Given the description of an element on the screen output the (x, y) to click on. 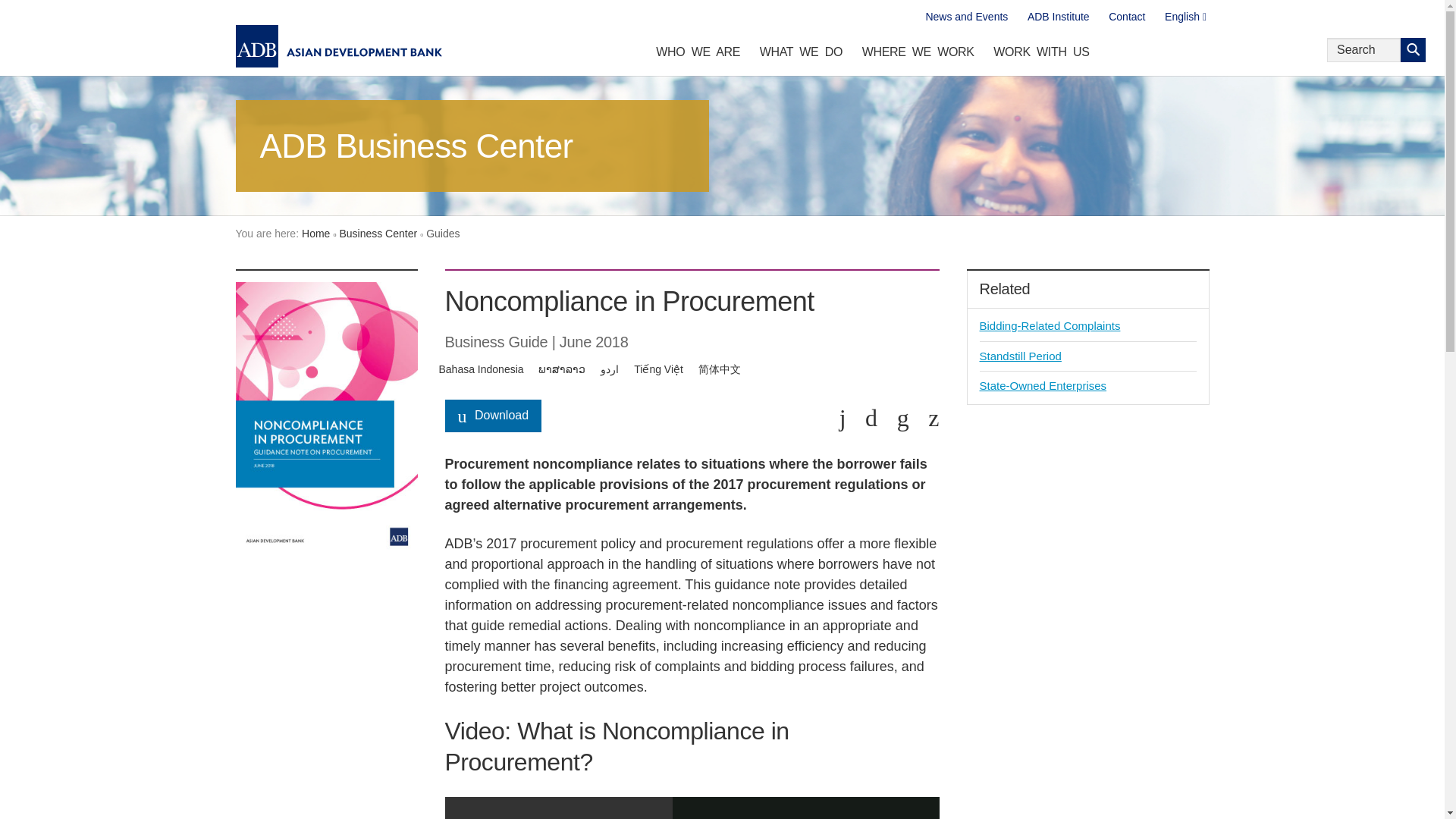
Contact (1126, 17)
ADB Institute (1058, 17)
Search (1412, 49)
WORK  WITH  US (1041, 55)
English   (1186, 17)
ADB Home (338, 46)
WHAT  WE  DO (800, 55)
WHERE  WE  WORK (917, 55)
News and Events (966, 17)
WHO  WE  ARE (697, 55)
